Given the description of an element on the screen output the (x, y) to click on. 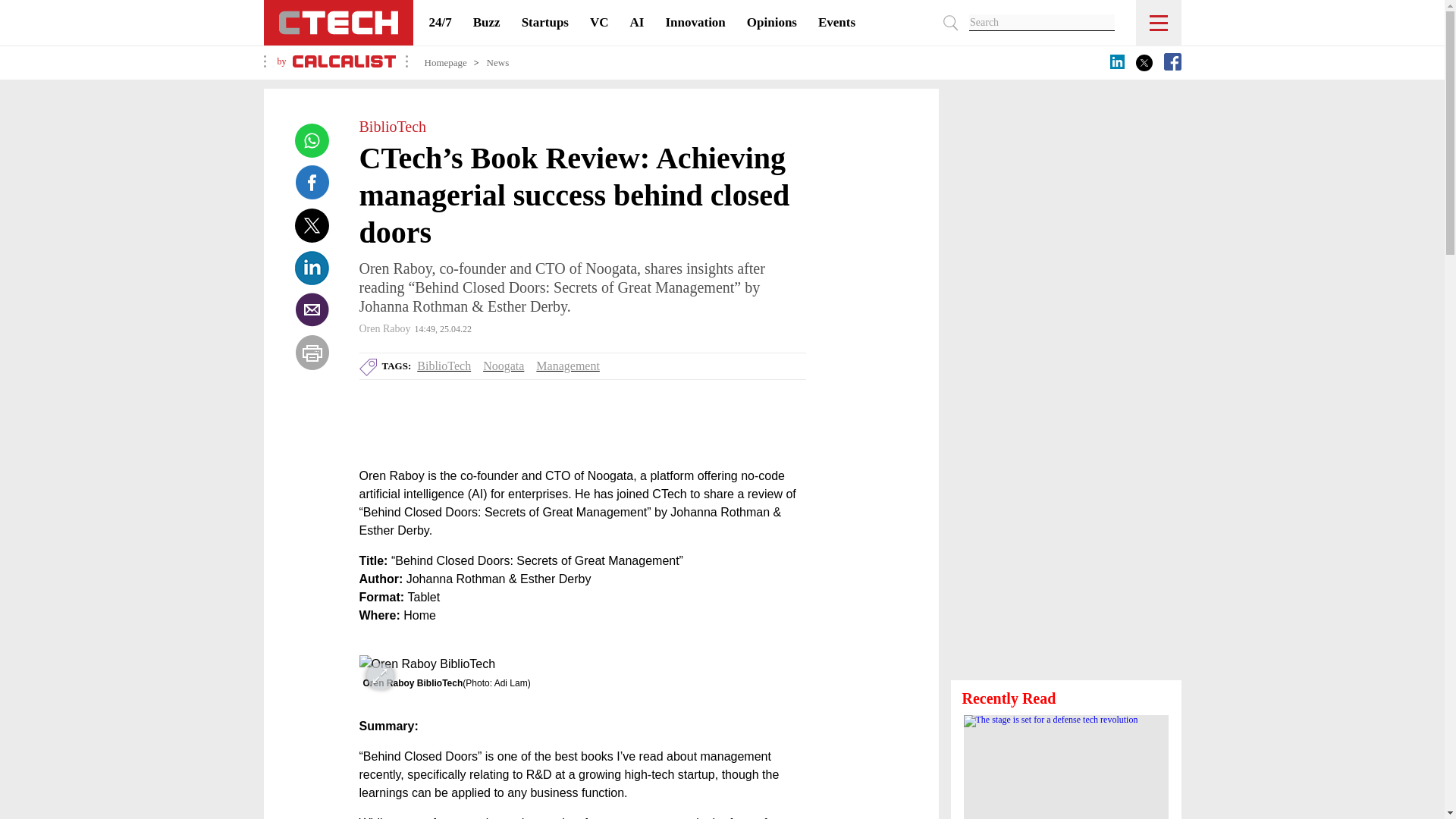
Buzz (486, 22)
Events (837, 22)
Homepage (446, 61)
News (497, 61)
CTech (338, 22)
Opinions (771, 22)
Startups (545, 22)
Startups (545, 22)
AI (637, 22)
Opinions (771, 22)
